Given the description of an element on the screen output the (x, y) to click on. 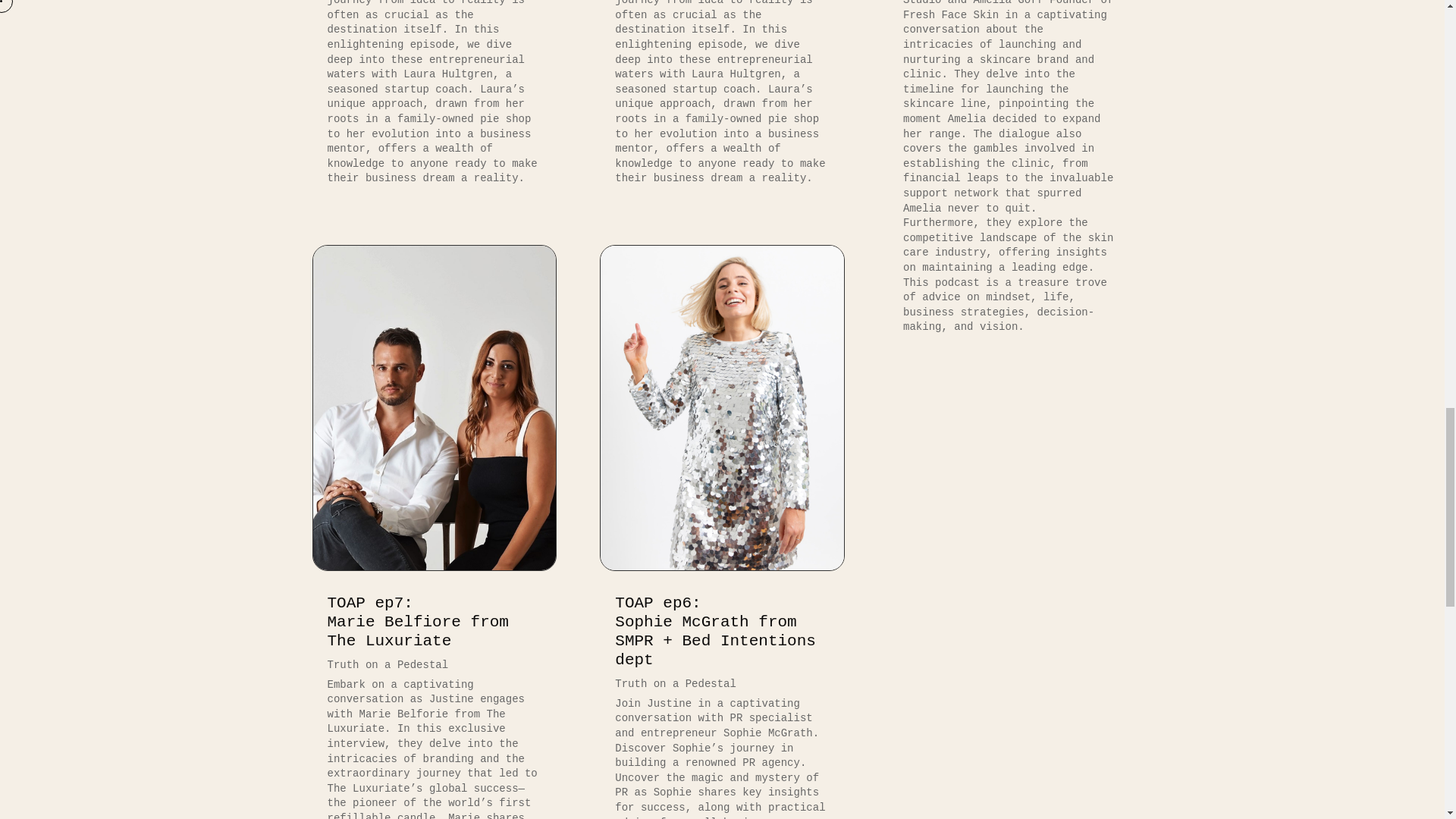
Truth on a Pedestal (675, 684)
Truth on a Pedestal (417, 622)
